Given the description of an element on the screen output the (x, y) to click on. 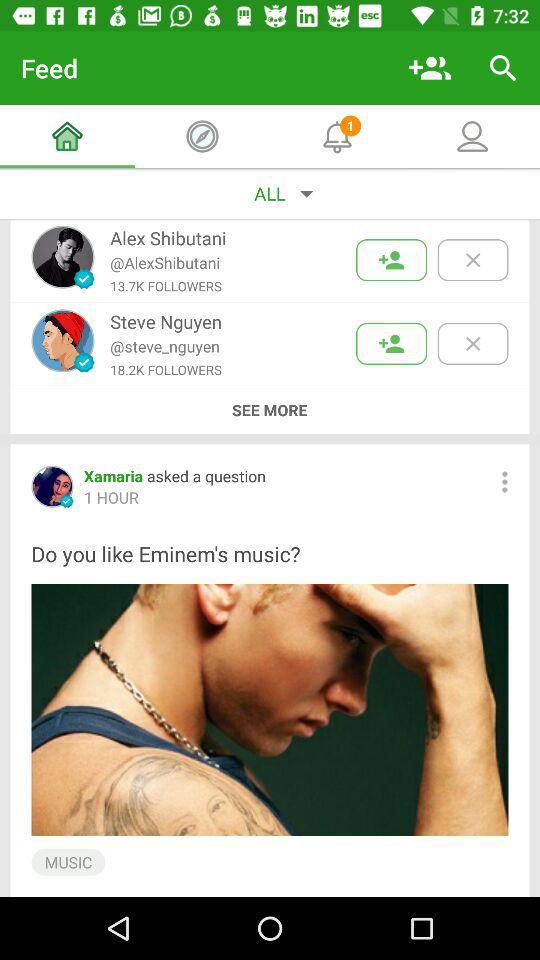
add to friends (391, 260)
